Given the description of an element on the screen output the (x, y) to click on. 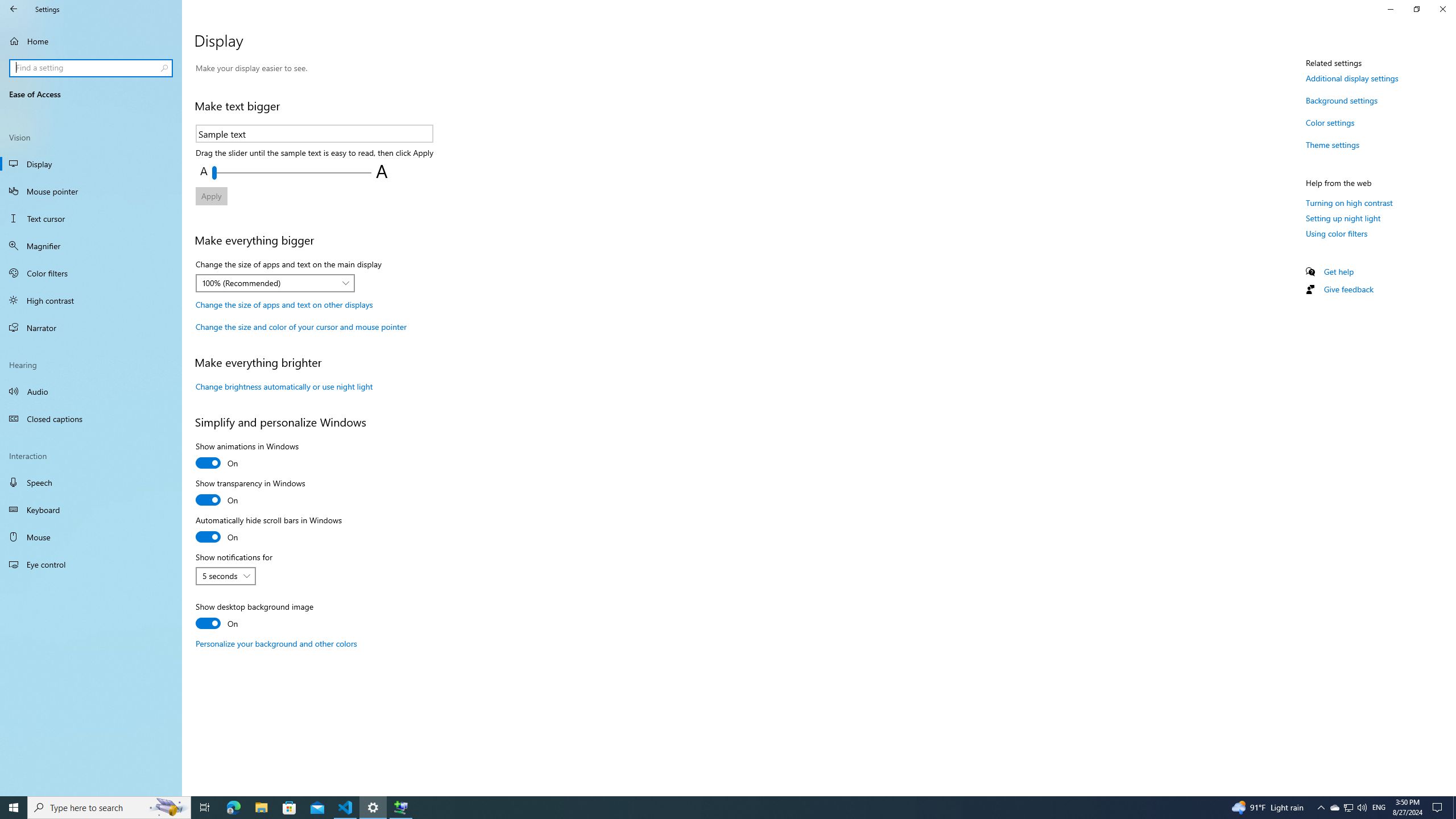
Personalize your background and other colors (275, 643)
Keyboard (91, 509)
Background settings (1341, 100)
Mouse pointer (91, 190)
Audio (91, 390)
5 seconds (219, 575)
Change the size and color of your cursor and mouse pointer (300, 326)
Display (91, 163)
